Given the description of an element on the screen output the (x, y) to click on. 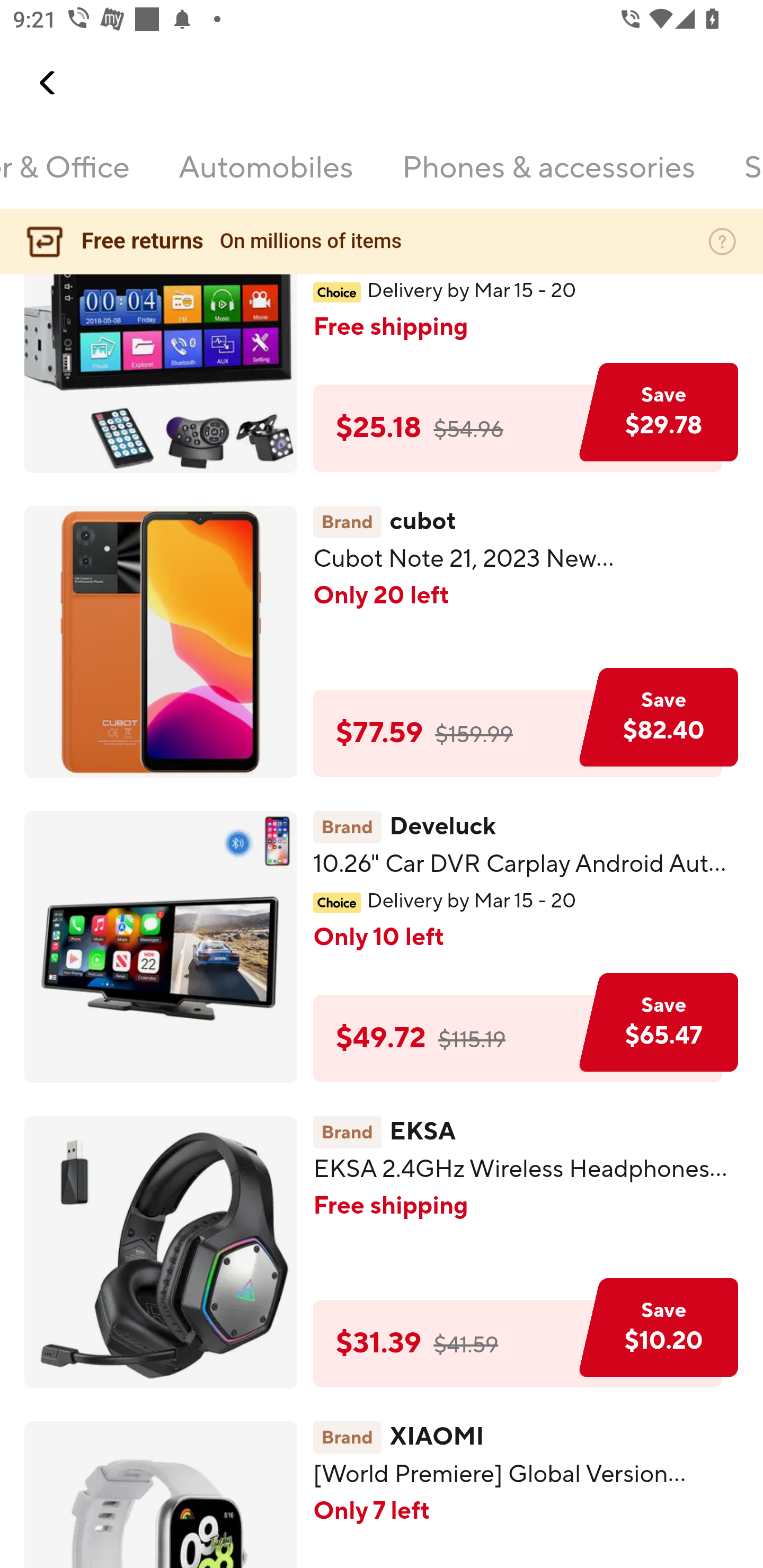
 (48, 82)
Computer & Office (65, 178)
Automobiles (265, 178)
Phones & accessories (547, 178)
